Given the description of an element on the screen output the (x, y) to click on. 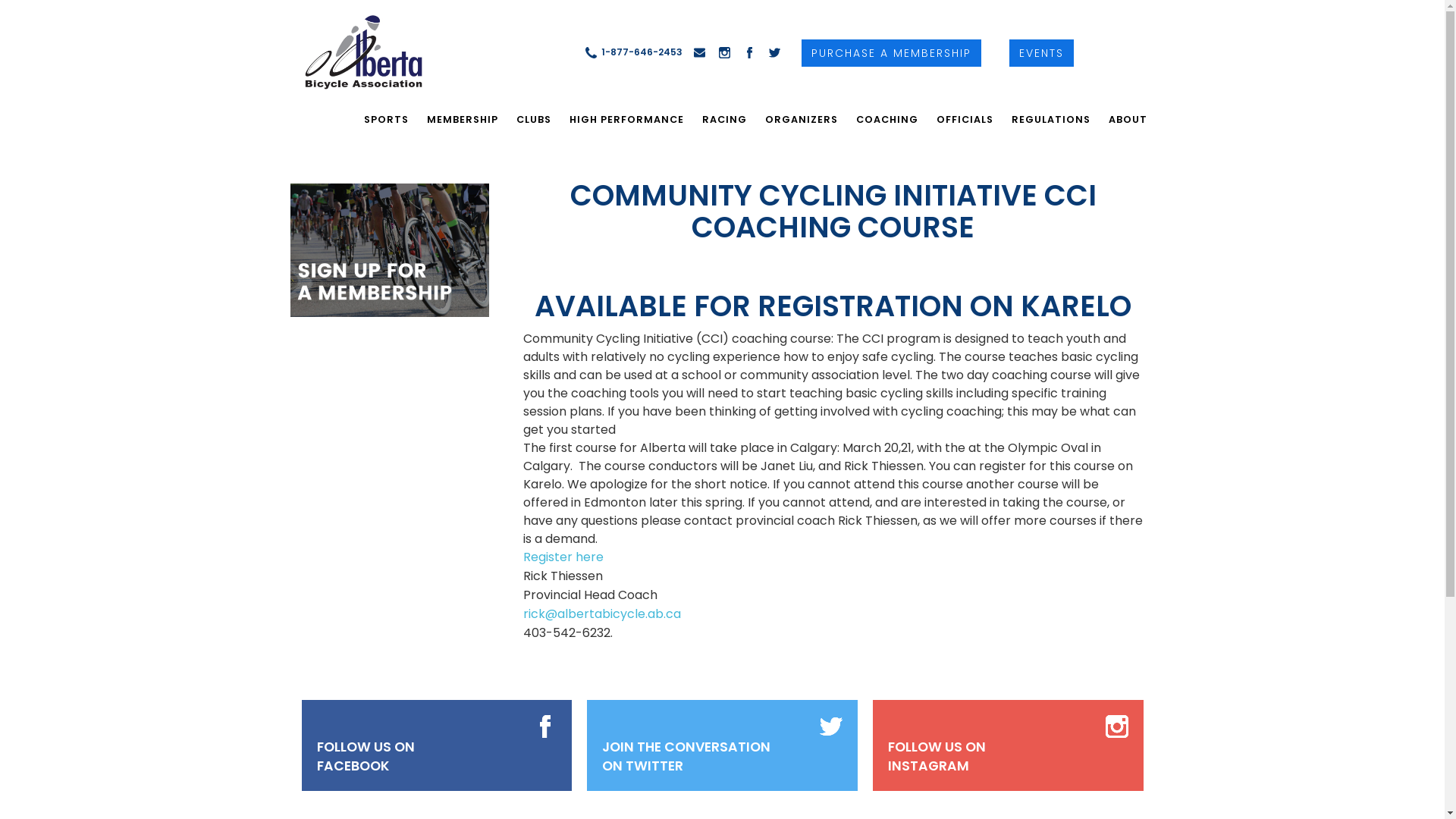
        Element type: text (352, 51)
HIGH PERFORMANCE Element type: text (625, 119)
REGULATIONS Element type: text (1051, 119)
JOIN THE CONVERSATION
ON TWITTER Element type: text (686, 756)
PURCHASE A MEMBERSHIP Element type: text (891, 52)
FOLLOW US ON
FACEBOOK Element type: text (365, 756)
ABOUT Element type: text (1127, 119)
FOLLOW US ON
INSTAGRAM Element type: text (936, 756)
OFFICIALS Element type: text (964, 119)
SPORTS Element type: text (386, 119)
Register here Element type: text (563, 556)
RACING Element type: text (724, 119)
CLUBS Element type: text (533, 119)
1-877-646-2453 Element type: text (632, 51)
rick@albertabicycle.ab.ca Element type: text (601, 613)
COACHING Element type: text (886, 119)
EVENTS Element type: text (1041, 52)
MEMBERSHIP Element type: text (461, 119)
ORGANIZERS Element type: text (800, 119)
